Given the description of an element on the screen output the (x, y) to click on. 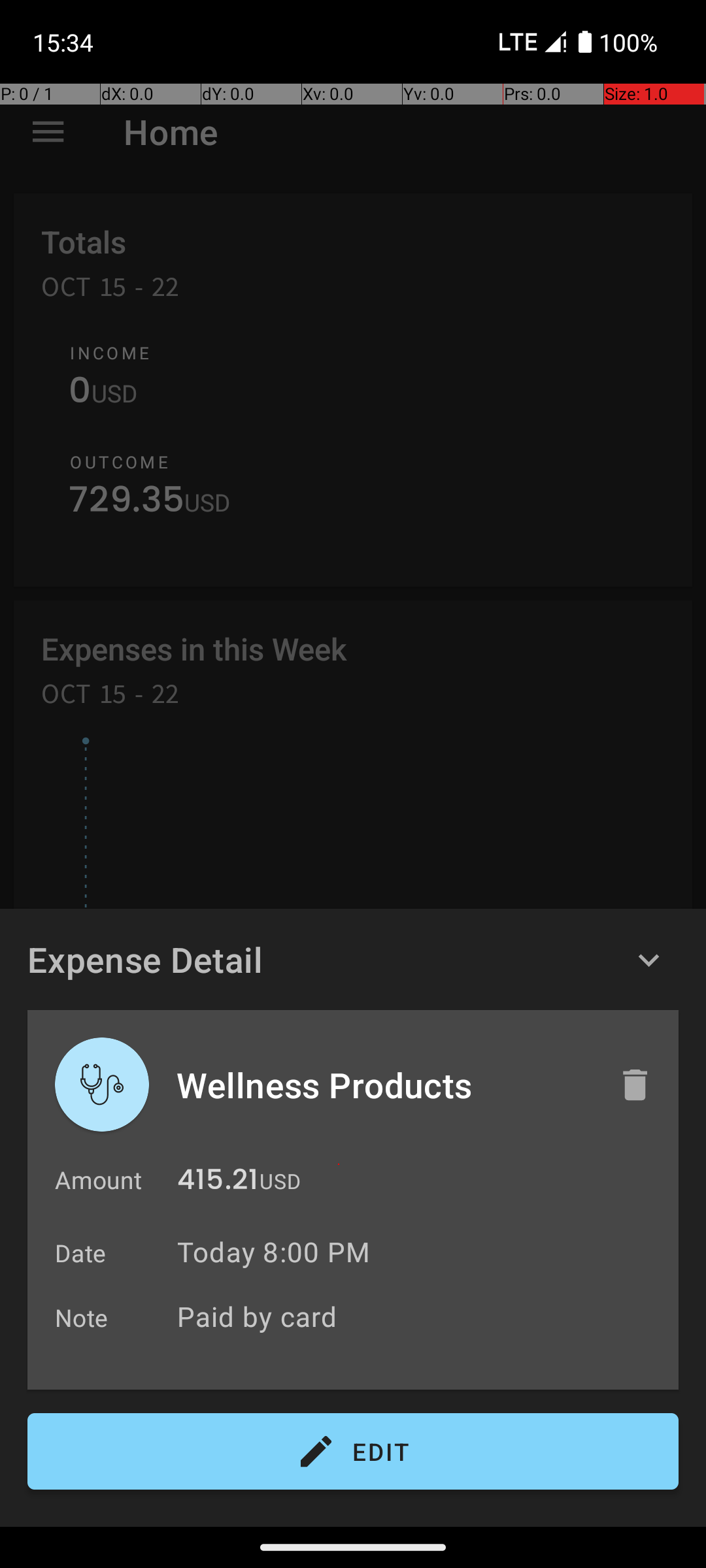
Wellness Products Element type: android.widget.TextView (383, 1084)
415.21 Element type: android.widget.TextView (217, 1182)
